Given the description of an element on the screen output the (x, y) to click on. 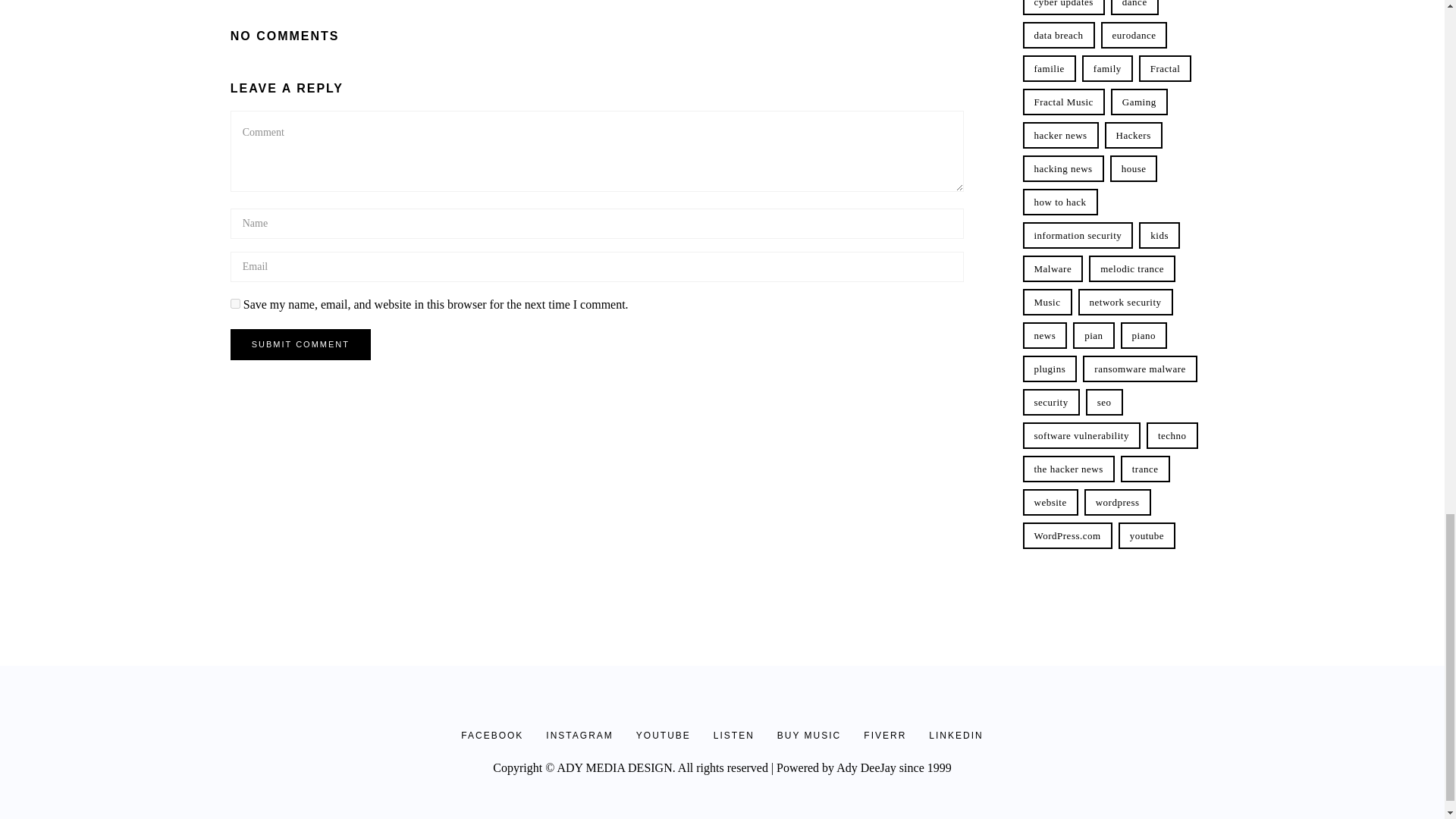
yes (235, 303)
Submit Comment (300, 344)
Submit Comment (300, 344)
